Given the description of an element on the screen output the (x, y) to click on. 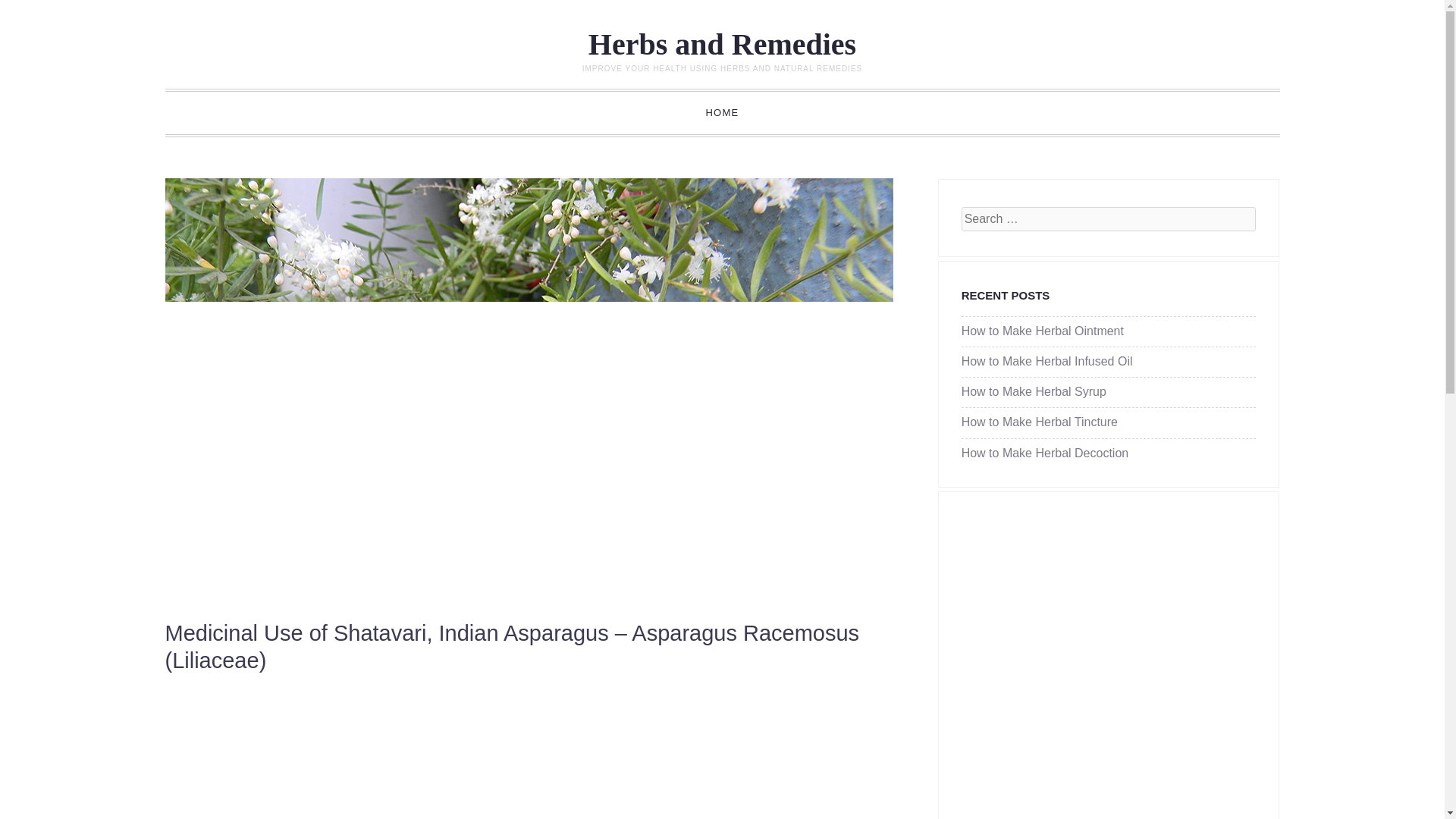
How to Make Herbal Tincture (1039, 421)
How to Make Herbal Infused Oil (1046, 360)
How to Make Herbal Syrup (1033, 391)
How to Make Herbal Ointment (1042, 330)
Skip to content (230, 112)
HOME (722, 112)
Advertisement (521, 758)
How to Make Herbal Decoction (1044, 452)
Search (33, 12)
Herbs and Remedies (722, 44)
